Given the description of an element on the screen output the (x, y) to click on. 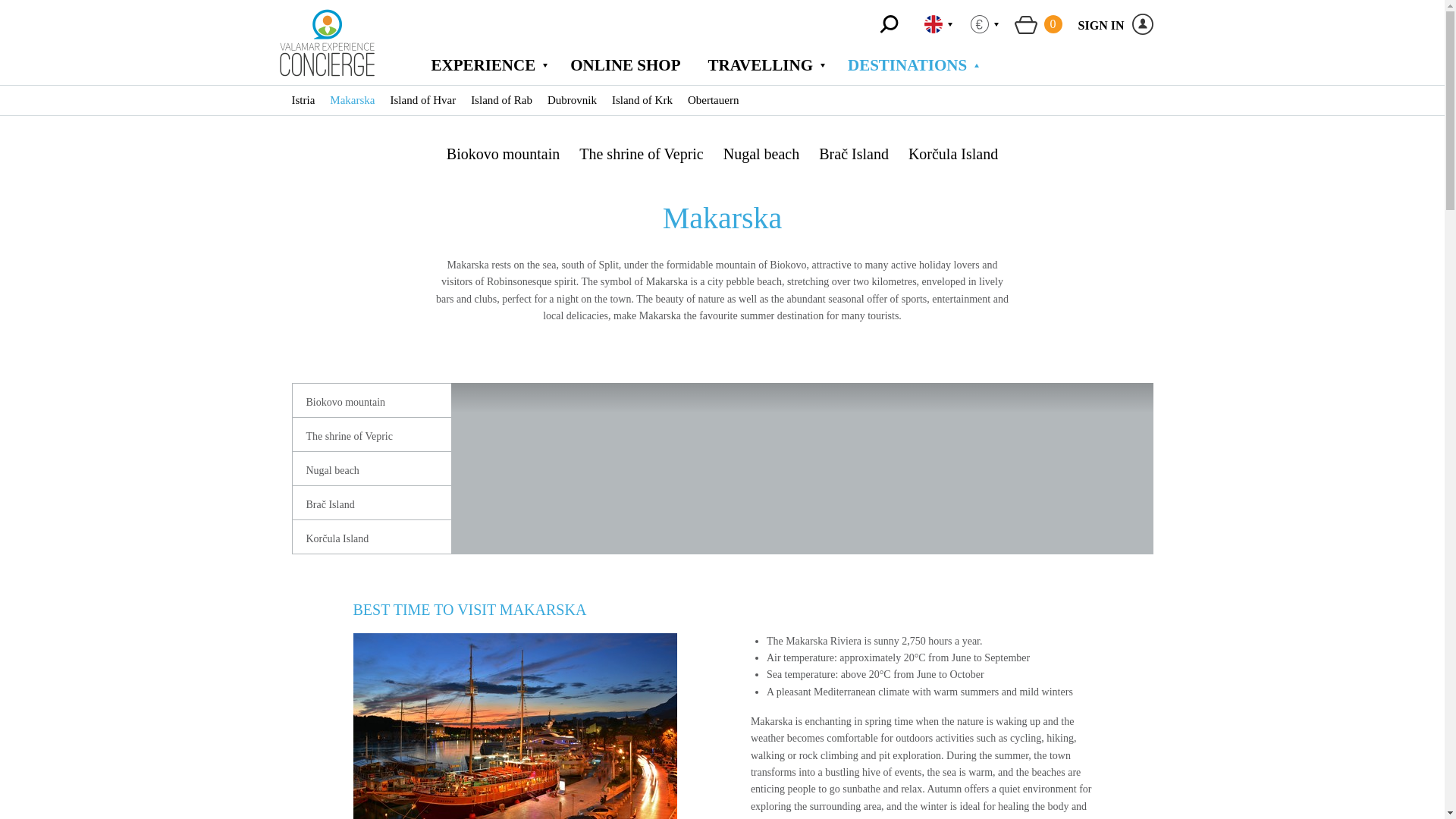
EXPERIENCE (490, 65)
ONLINE SHOP (1115, 25)
ICON-USER CREATED WITH SKETCH. (624, 65)
TRAVELLING (1142, 24)
